Given the description of an element on the screen output the (x, y) to click on. 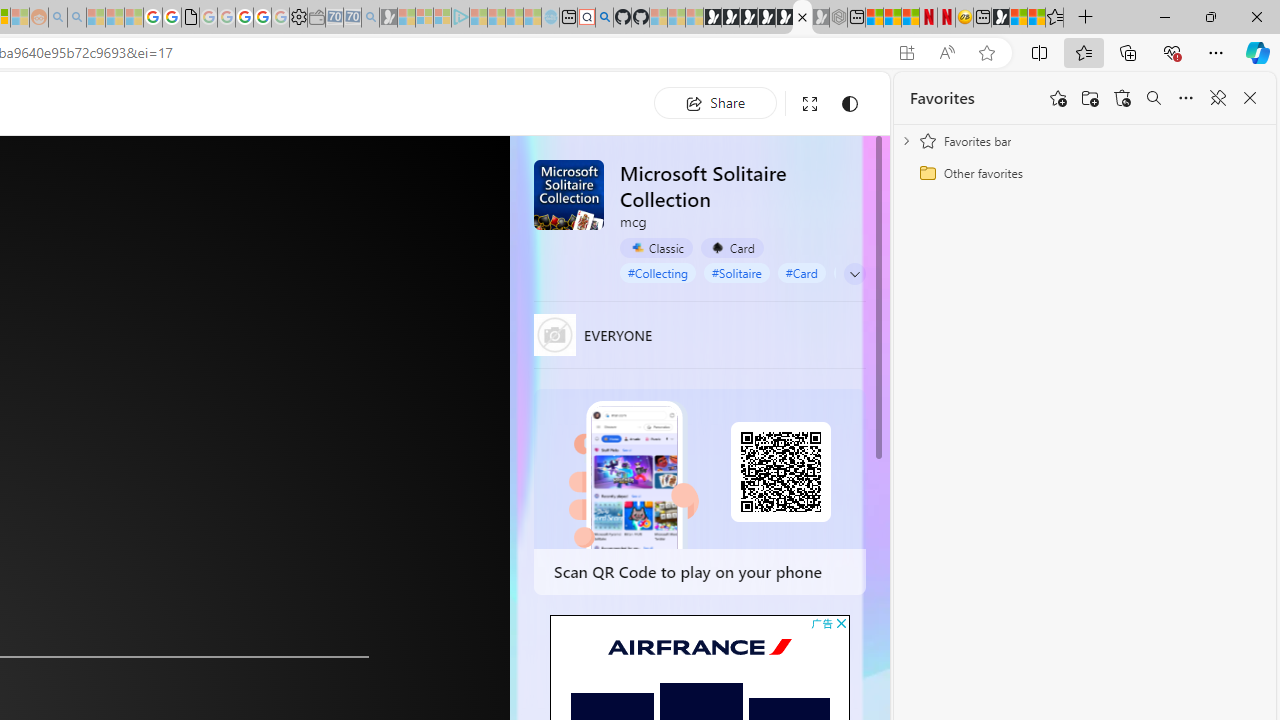
Card (732, 248)
MSN (1000, 17)
Card (732, 247)
Change to dark mode (849, 103)
Cheap Car Rentals - Save70.com - Sleeping (352, 17)
Close favorites (1250, 98)
github - Search (604, 17)
Wallet - Sleeping (316, 17)
EVERYONE (554, 334)
